Given the description of an element on the screen output the (x, y) to click on. 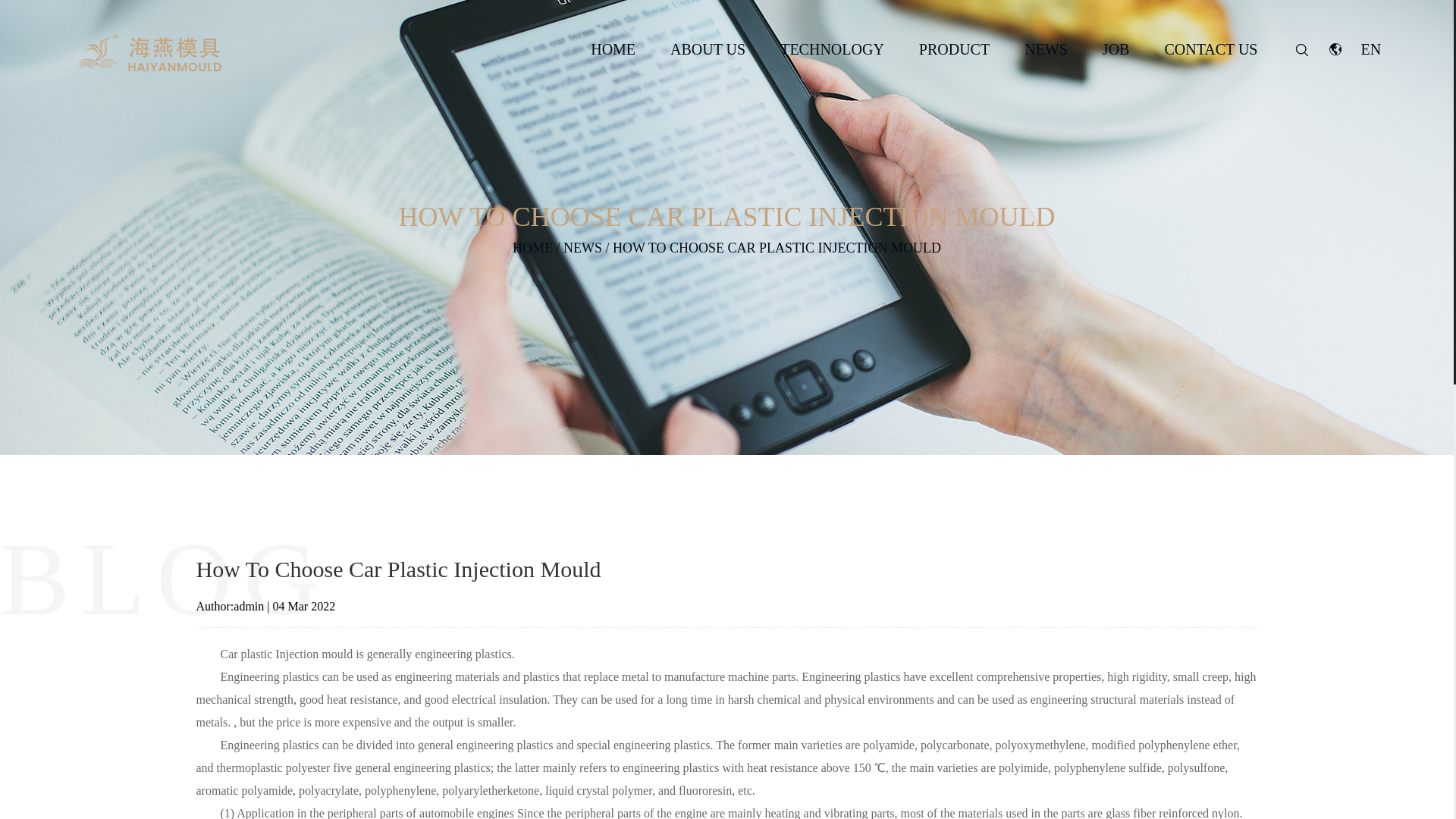
PRODUCT (954, 48)
CONTACT US (1210, 48)
ABOUT US (707, 48)
Zhejiang Haiyan Mould Co., Ltd. (146, 54)
NEWS (1046, 48)
TECHNOLOGY (831, 48)
HOME (612, 48)
